Given the description of an element on the screen output the (x, y) to click on. 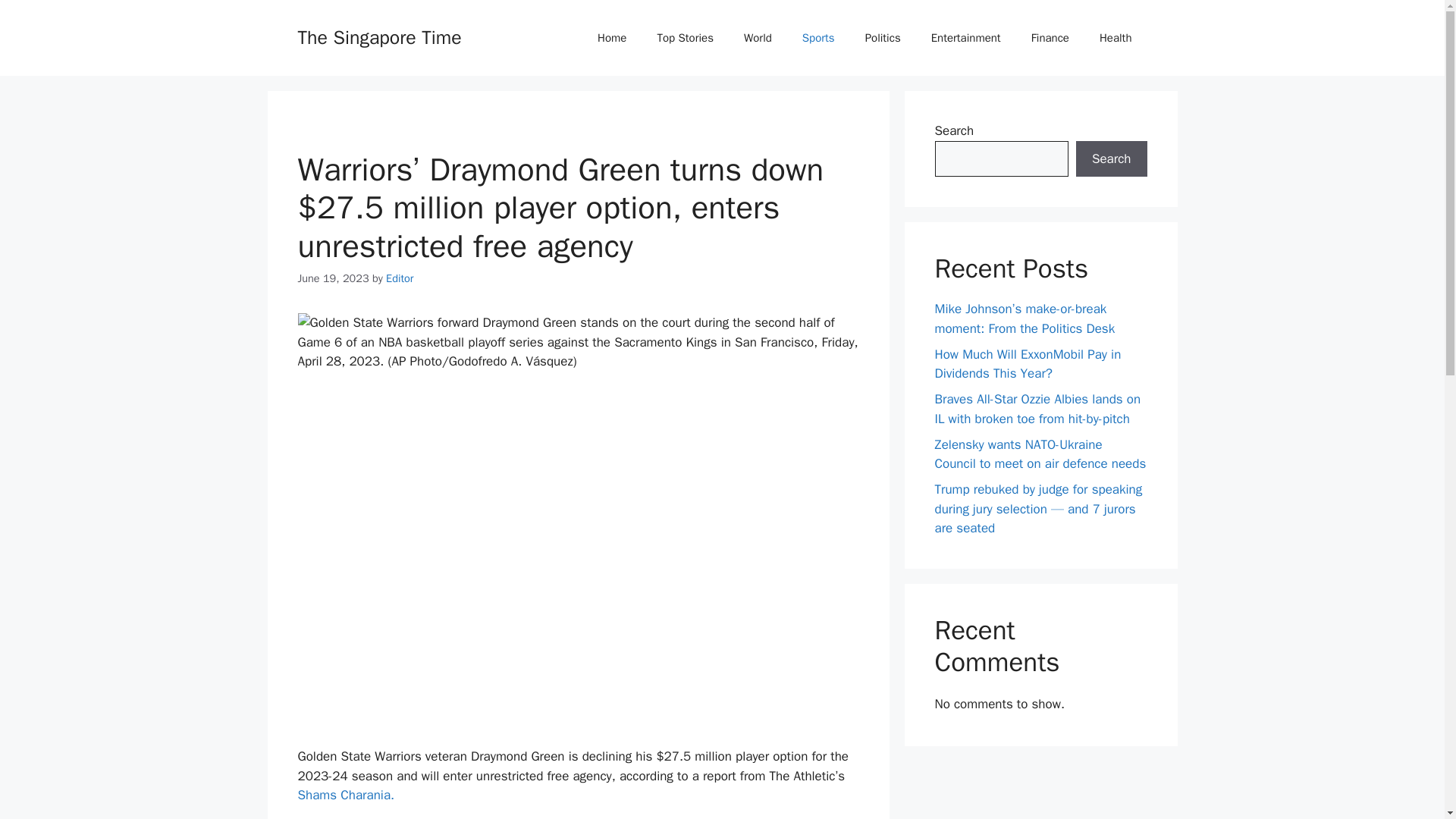
Shams Charania. (345, 795)
Finance (1050, 37)
View all posts by Editor (399, 278)
Health (1115, 37)
World (758, 37)
Politics (882, 37)
Home (612, 37)
Sports (818, 37)
Editor (399, 278)
Search (1111, 158)
Top Stories (685, 37)
The Singapore Time (379, 37)
How Much Will ExxonMobil Pay in Dividends This Year? (1027, 363)
